Given the description of an element on the screen output the (x, y) to click on. 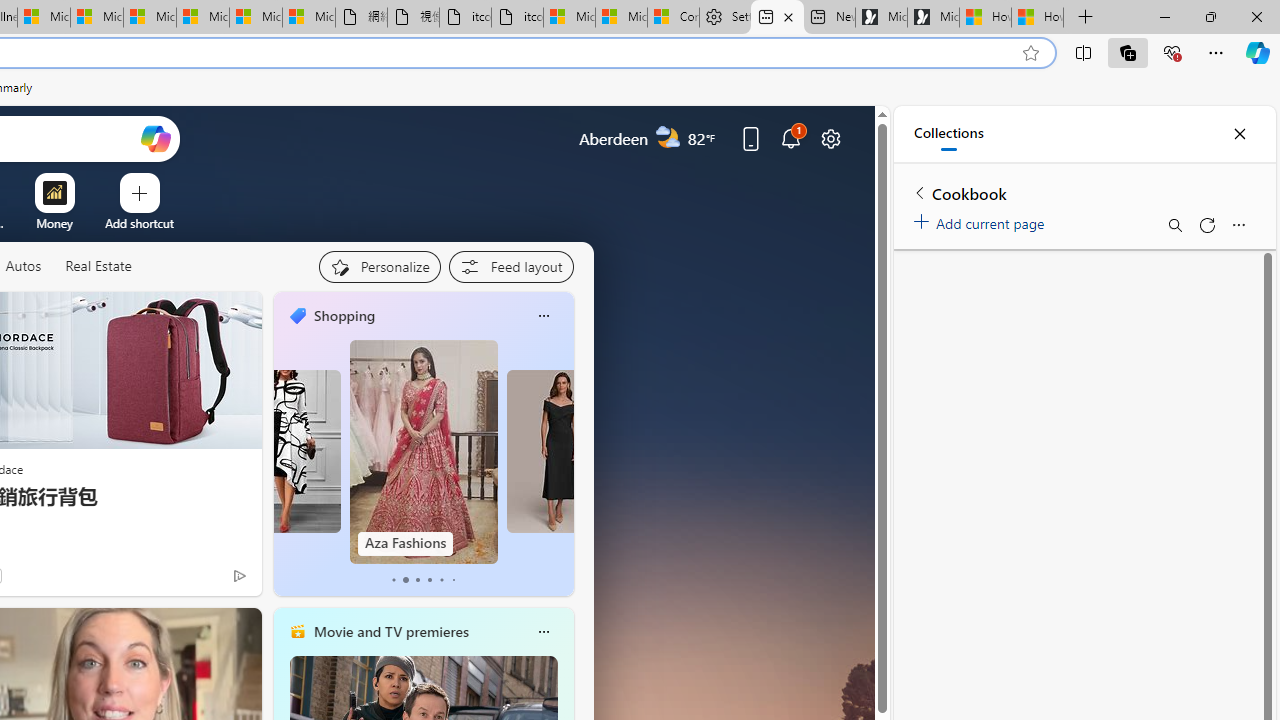
tab-3 (429, 579)
tab-2 (416, 579)
tab-5 (452, 579)
Movie and TV premieres (390, 631)
Consumer Health Data Privacy Policy (672, 17)
